Given the description of an element on the screen output the (x, y) to click on. 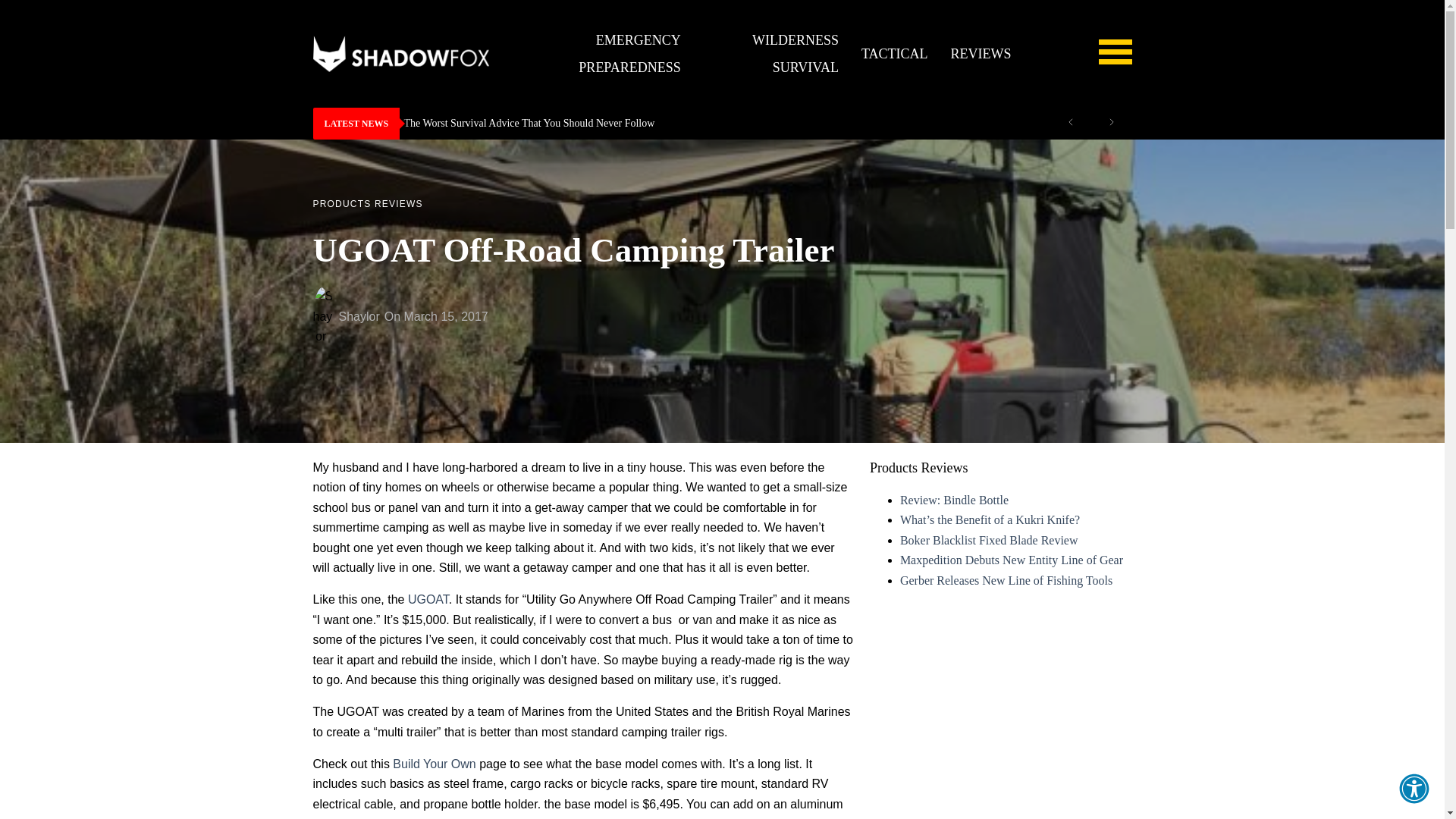
REVIEWS (981, 53)
Review: Bindle Bottle (954, 499)
WILDERNESS SURVIVAL (770, 53)
UGOAT (427, 599)
Maxpedition Debuts New Entity Line of Gear (1010, 559)
Gerber Releases New Line of Fishing Tools (1005, 580)
Build Your Own (434, 763)
Review: Bindle Bottle (954, 499)
The Worst Survival Advice That You Should Never Follow (721, 123)
TACTICAL (894, 53)
PRODUCTS REVIEWS (367, 204)
Boker Blacklist Fixed Blade Review (988, 540)
EMERGENCY PREPAREDNESS (597, 53)
Boker Blacklist Fixed Blade Review (988, 540)
